Given the description of an element on the screen output the (x, y) to click on. 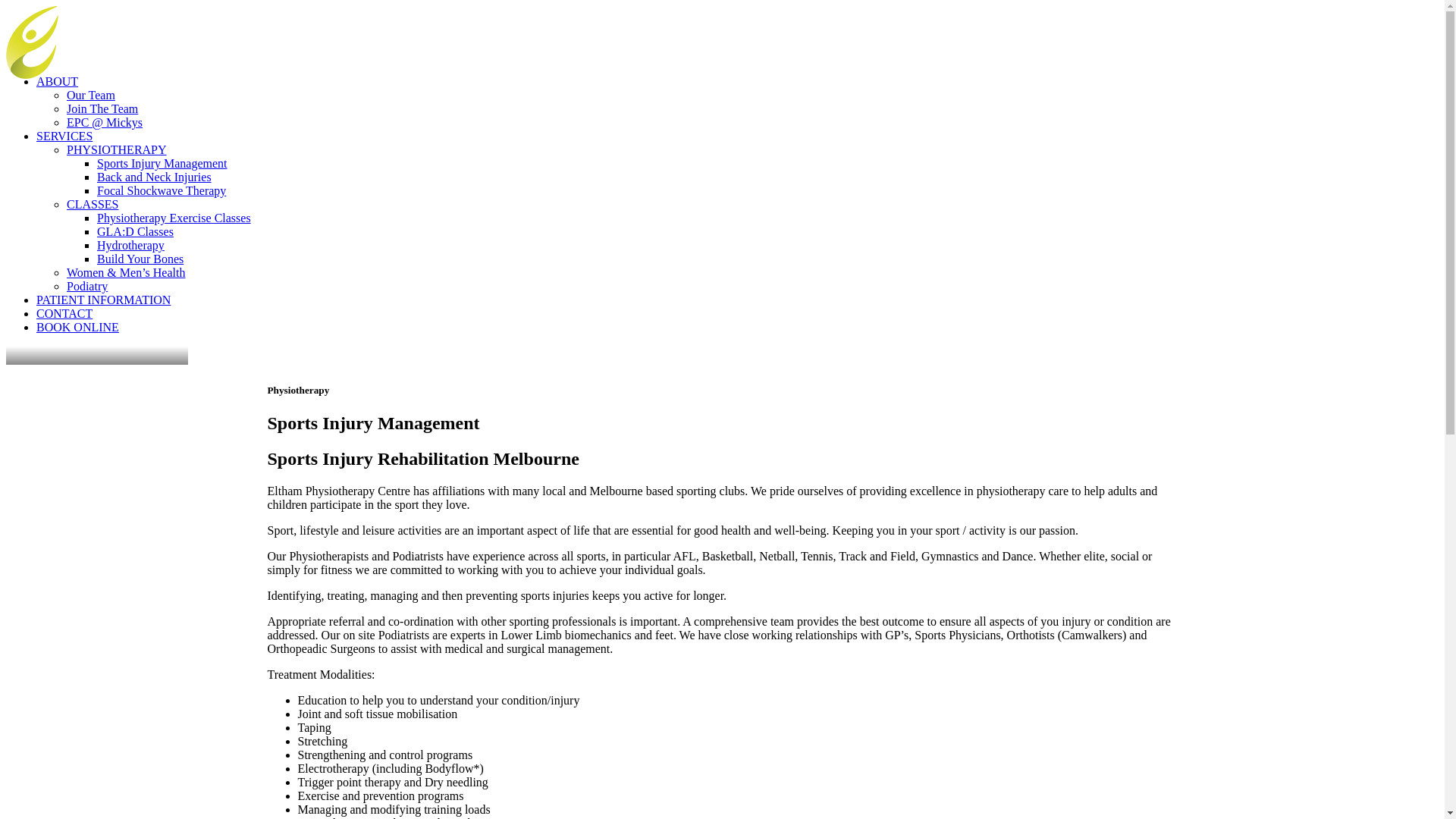
EPC @ Mickys Element type: text (104, 122)
GLA:D Classes Element type: text (135, 231)
Sports Injury Management Element type: text (162, 162)
CLASSES Element type: text (92, 203)
BOOK ONLINE Element type: text (737, 327)
Podiatry Element type: text (86, 285)
Join The Team Element type: text (102, 108)
Our Team Element type: text (90, 94)
Build Your Bones Element type: text (140, 258)
ABOUT Element type: text (57, 81)
Hydrotherapy Element type: text (130, 244)
SERVICES Element type: text (64, 135)
Back and Neck Injuries Element type: text (154, 176)
PATIENT INFORMATION Element type: text (103, 299)
PHYSIOTHERAPY Element type: text (116, 149)
Focal Shockwave Therapy Element type: text (161, 190)
CONTACT Element type: text (64, 313)
Physiotherapy Exercise Classes Element type: text (174, 217)
